Given the description of an element on the screen output the (x, y) to click on. 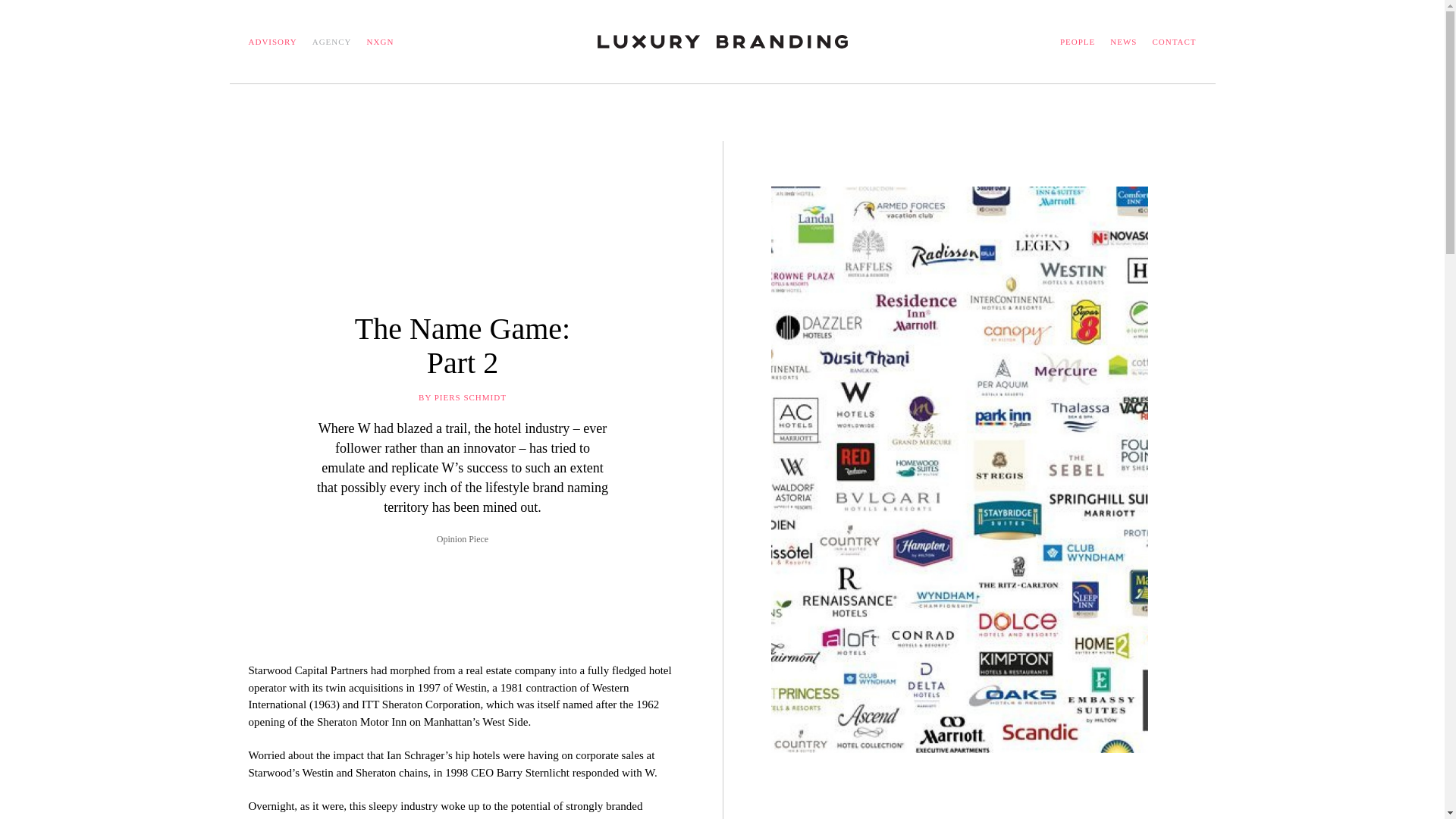
CONTACT (1173, 41)
PEOPLE (1076, 40)
AGENCY (332, 40)
ADVISORY (272, 40)
CONTACT (462, 346)
NXGN (1173, 40)
NEWS (380, 40)
